Given the description of an element on the screen output the (x, y) to click on. 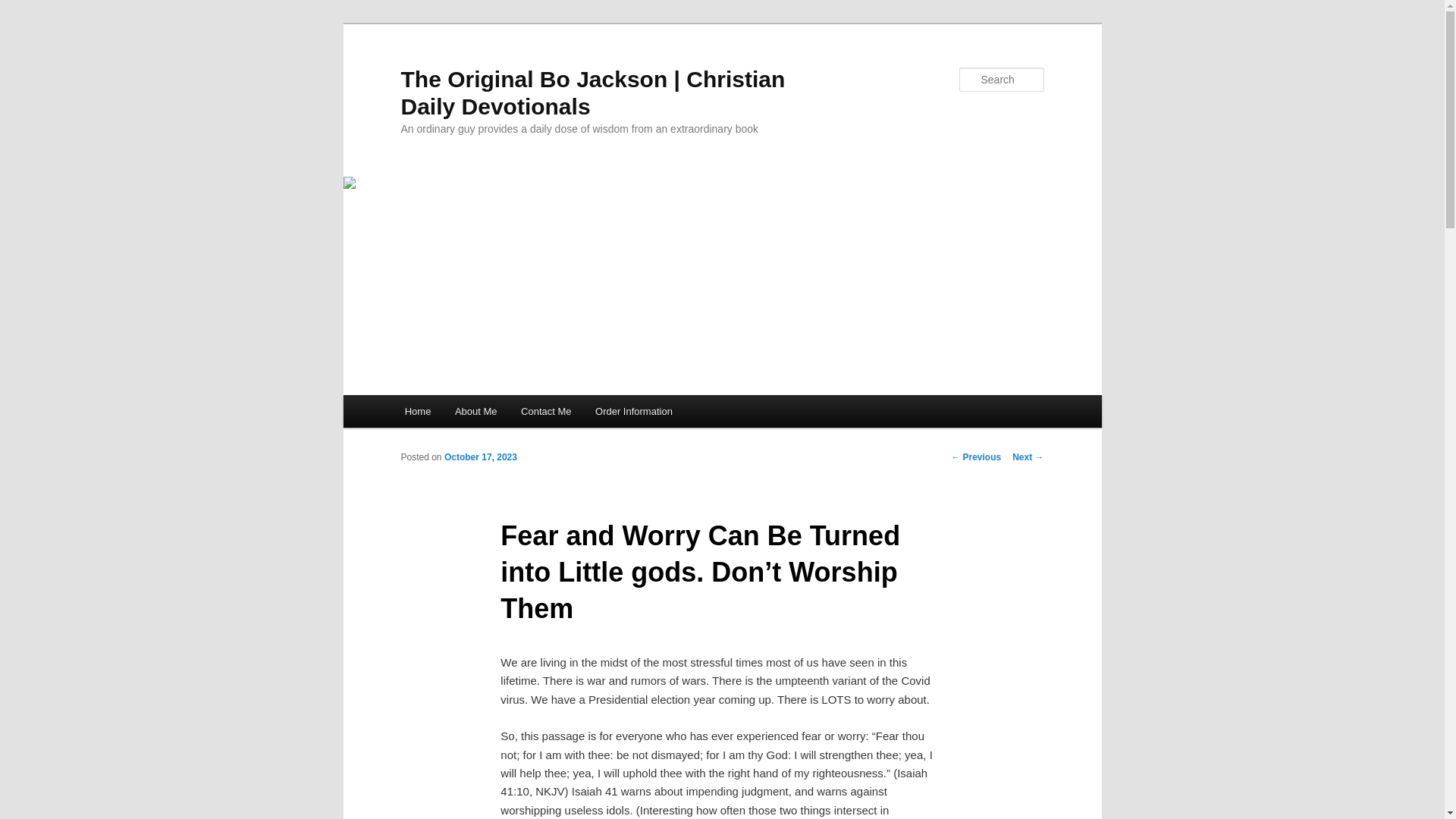
About Me (475, 410)
October 17, 2023 (480, 457)
Order Information (633, 410)
Search (24, 8)
6:01 am (480, 457)
Home (417, 410)
Contact Me (545, 410)
